Given the description of an element on the screen output the (x, y) to click on. 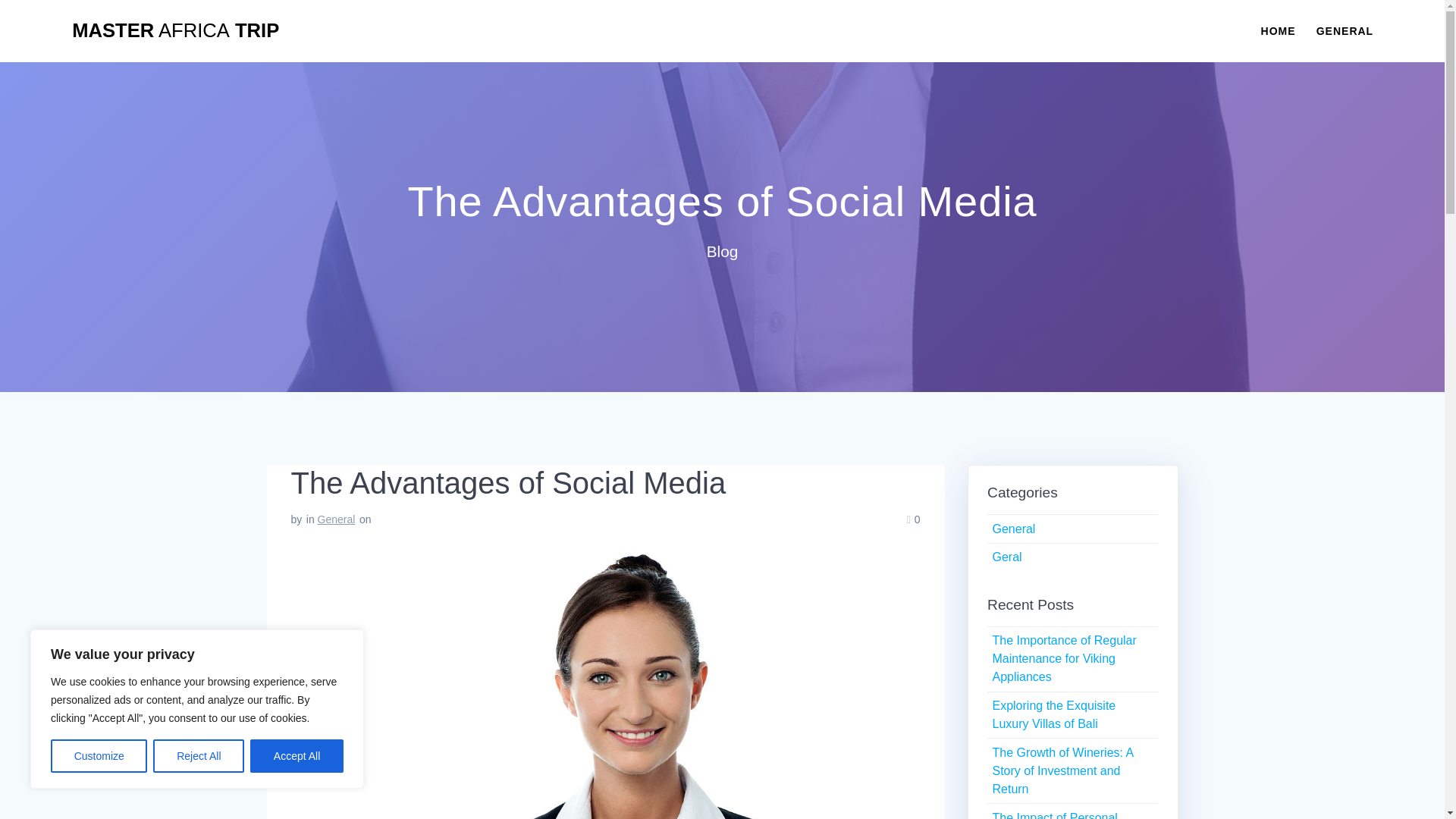
Accept All (296, 756)
Customize (98, 756)
Exploring the Exquisite Luxury Villas of Bali (1053, 714)
General (1013, 528)
Geral (1006, 556)
The Growth of Wineries: A Story of Investment and Return (1061, 770)
MASTER AFRICA TRIP (175, 30)
Reject All (198, 756)
The Impact of Personal Experience on Professional Trajectory (1065, 815)
The Importance of Regular Maintenance for Viking Appliances (1063, 658)
